Given the description of an element on the screen output the (x, y) to click on. 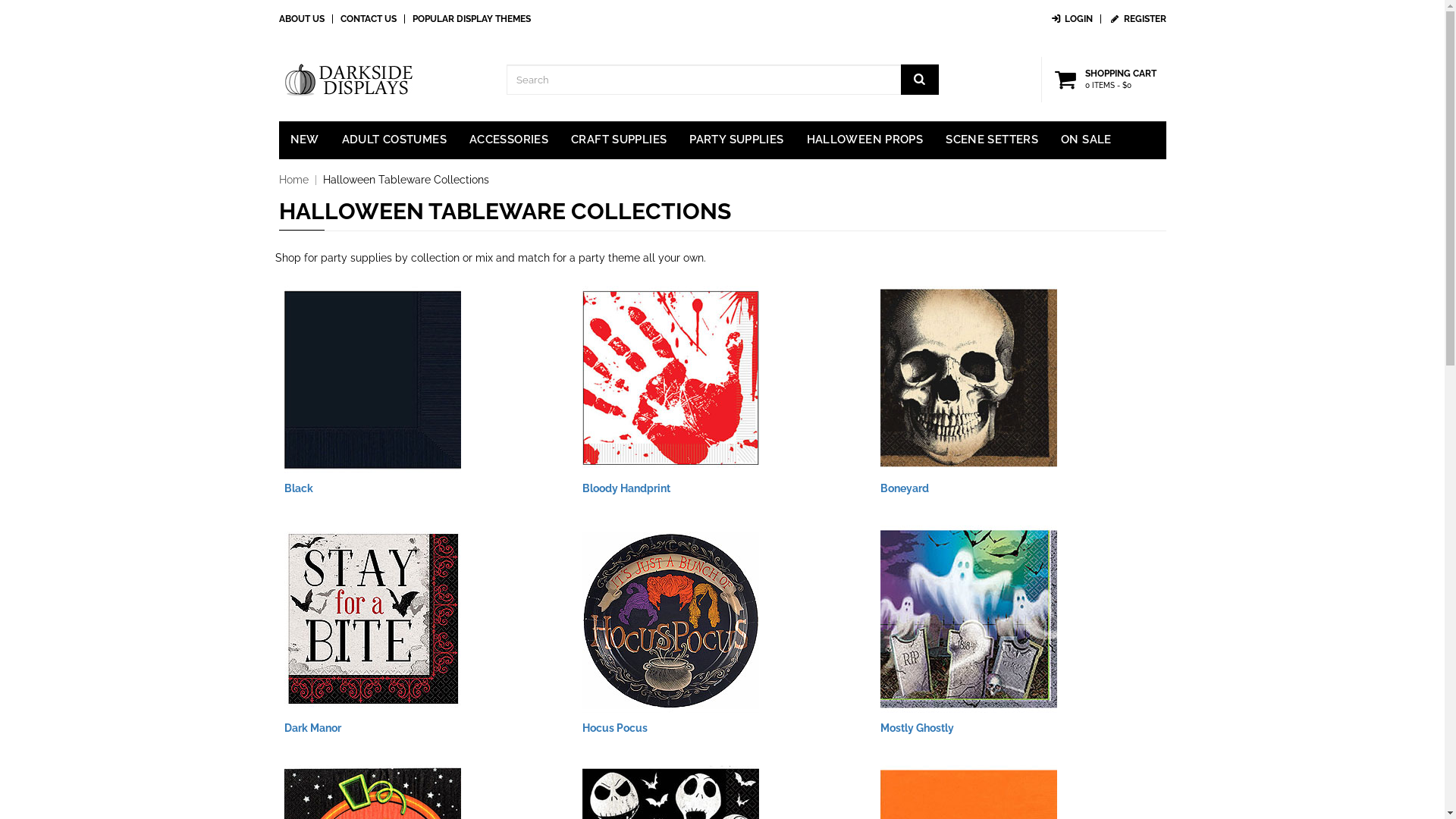
ADULT COSTUMES Element type: text (394, 140)
ACCESSORIES Element type: text (508, 140)
Dark Manor Party Tableware Element type: hover (371, 616)
Bloody Handprint Party Tableware Element type: hover (670, 376)
ABOUT US Element type: text (301, 18)
Mostly Ghostly Tableware > Element type: hover (968, 616)
CRAFT SUPPLIES Element type: text (618, 140)
LOGIN Element type: text (1070, 18)
SCENE SETTERS Element type: text (991, 140)
PARTY SUPPLIES Element type: text (735, 140)
REGISTER Element type: text (1137, 18)
Dark Manor Element type: text (311, 727)
Boneyard Element type: text (904, 488)
NEW Element type: text (304, 140)
Hocus Pocus Element type: text (614, 727)
Halloween Tableware Collections Element type: text (406, 179)
Mostly Ghostly Element type: text (916, 727)
CONTACT US Element type: text (367, 18)
Bloody Handprint Element type: text (626, 488)
POPULAR DISPLAY THEMES Element type: text (471, 18)
SHOPPING CART
0 ITEMS - $0 Element type: text (1107, 79)
ON SALE Element type: text (1086, 140)
Hocus Pocus Party Supplies Element type: hover (670, 616)
Home Element type: text (293, 179)
Black Party Tableware Element type: hover (371, 376)
HALLOWEEN PROPS Element type: text (864, 140)
Black Element type: text (297, 488)
